Given the description of an element on the screen output the (x, y) to click on. 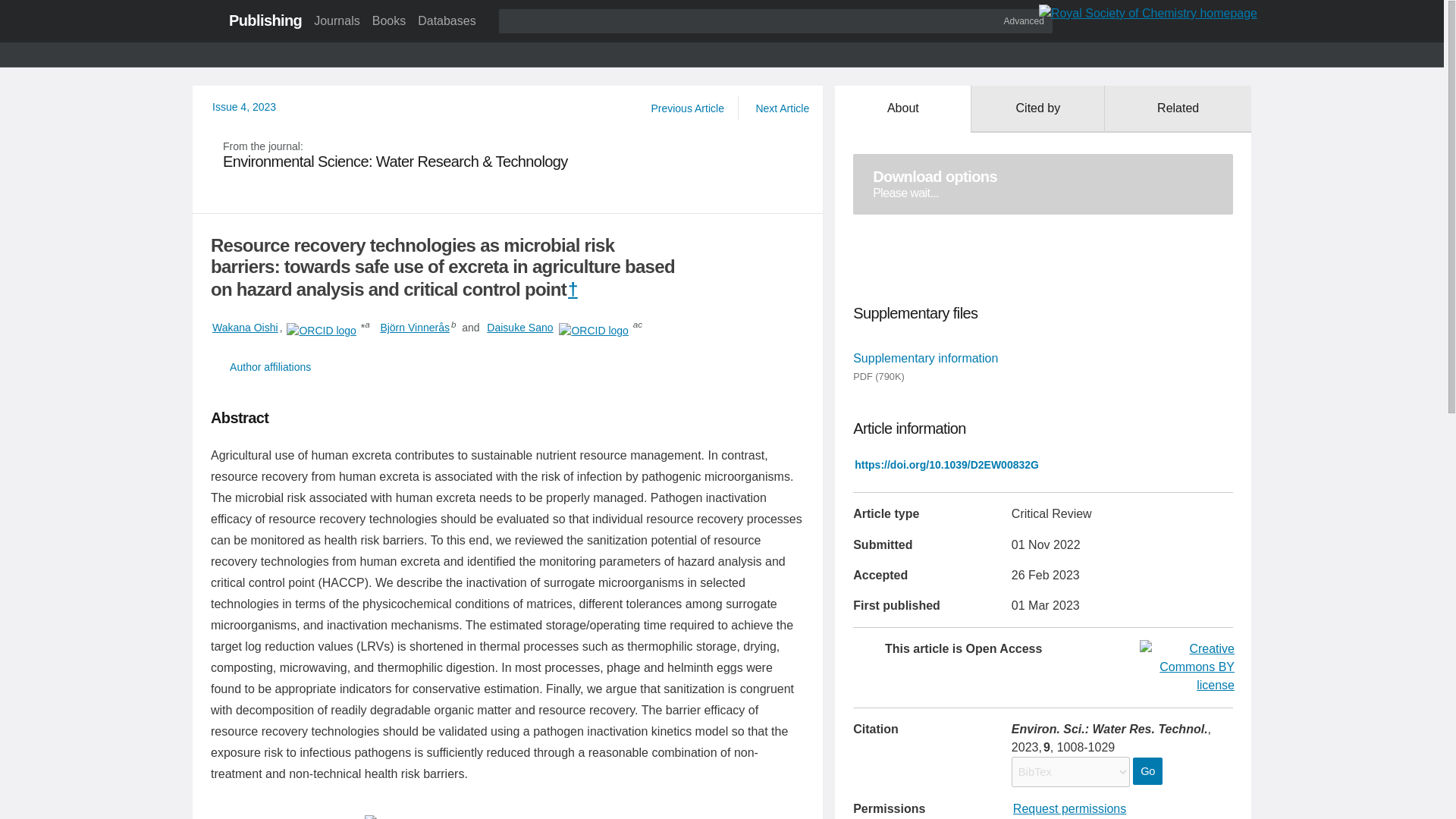
Request permissions (1068, 808)
Issue 4, 2023 (244, 106)
Databases (1043, 183)
Journals (446, 20)
Daisuke Sano (336, 20)
Advanced (519, 327)
Related (1023, 20)
About (1177, 108)
Go (902, 108)
Issue 4, 2023 (1146, 770)
Previous Article (244, 106)
Author affiliations (687, 107)
Cited by (508, 367)
Go (1037, 108)
